Given the description of an element on the screen output the (x, y) to click on. 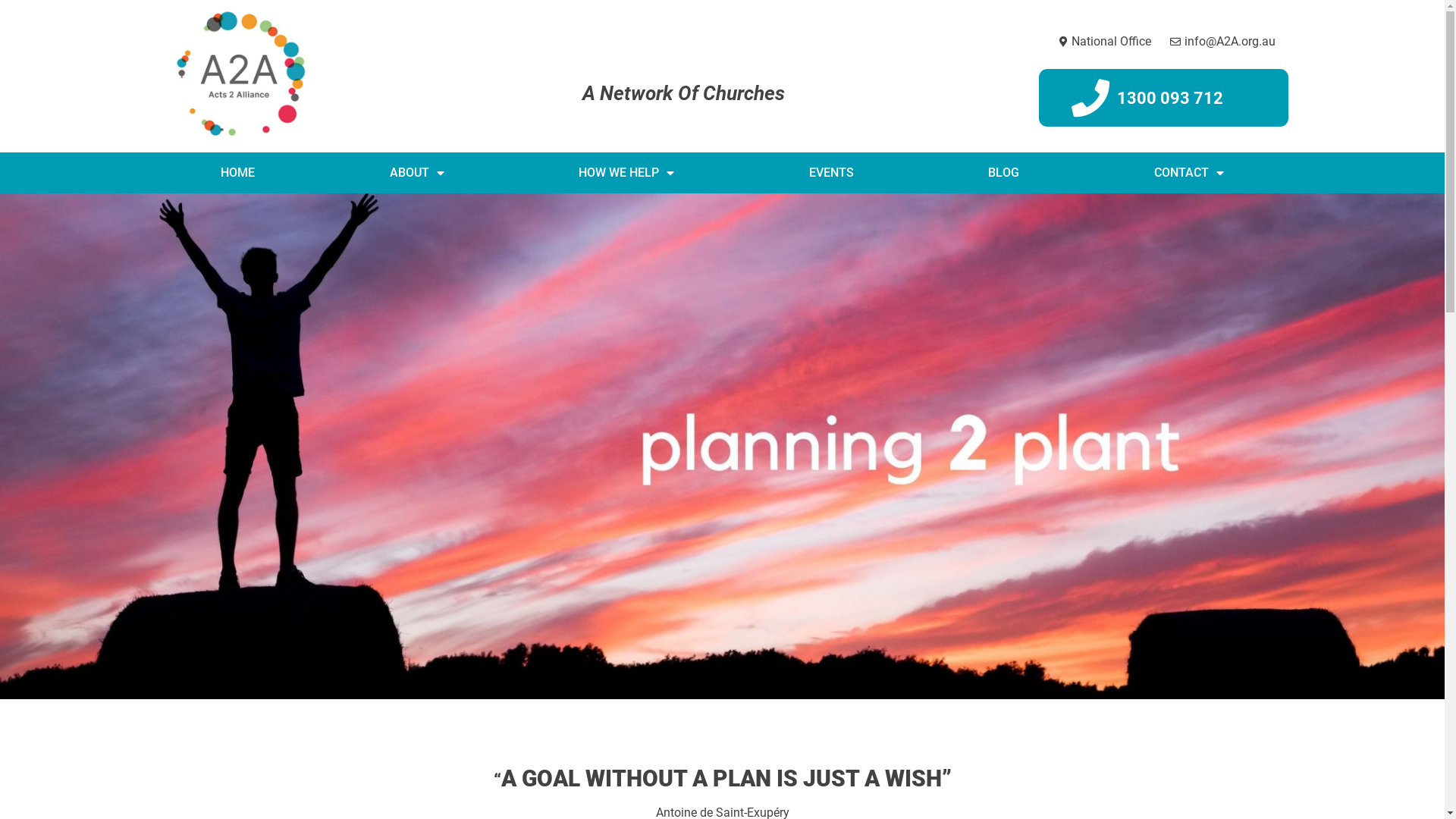
BLOG Element type: text (1003, 172)
ABOUT Element type: text (416, 172)
CONTACT Element type: text (1188, 172)
HOW WE HELP Element type: text (626, 172)
EVENTS Element type: text (831, 172)
National Office Element type: text (1102, 42)
info@A2A.org.au Element type: text (1221, 42)
1300 093 712 Element type: text (1170, 97)
HOME Element type: text (237, 172)
